Given the description of an element on the screen output the (x, y) to click on. 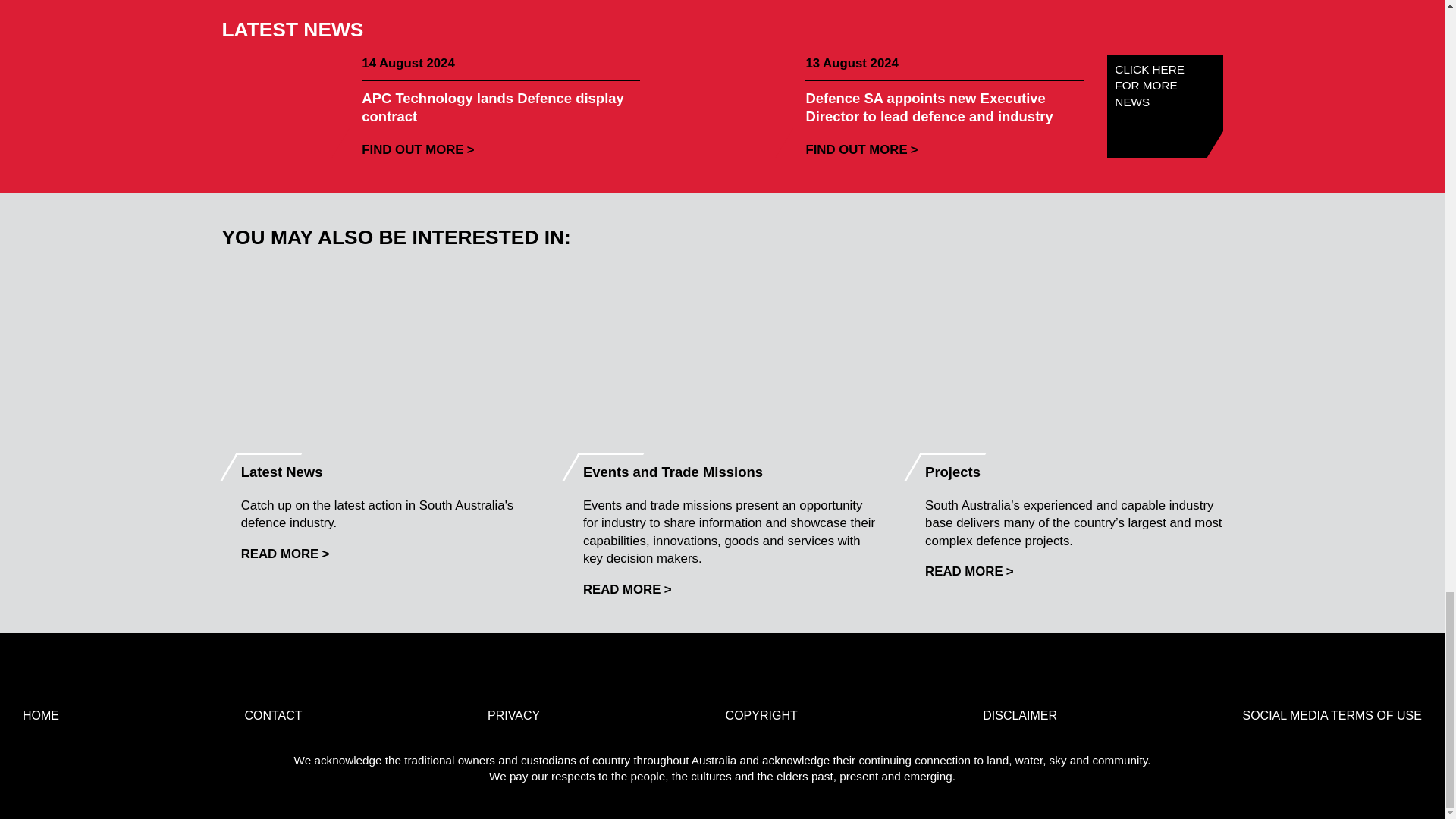
View: Events and Trade Missions (627, 589)
View: Projects (968, 571)
View: Latest News (285, 554)
